Given the description of an element on the screen output the (x, y) to click on. 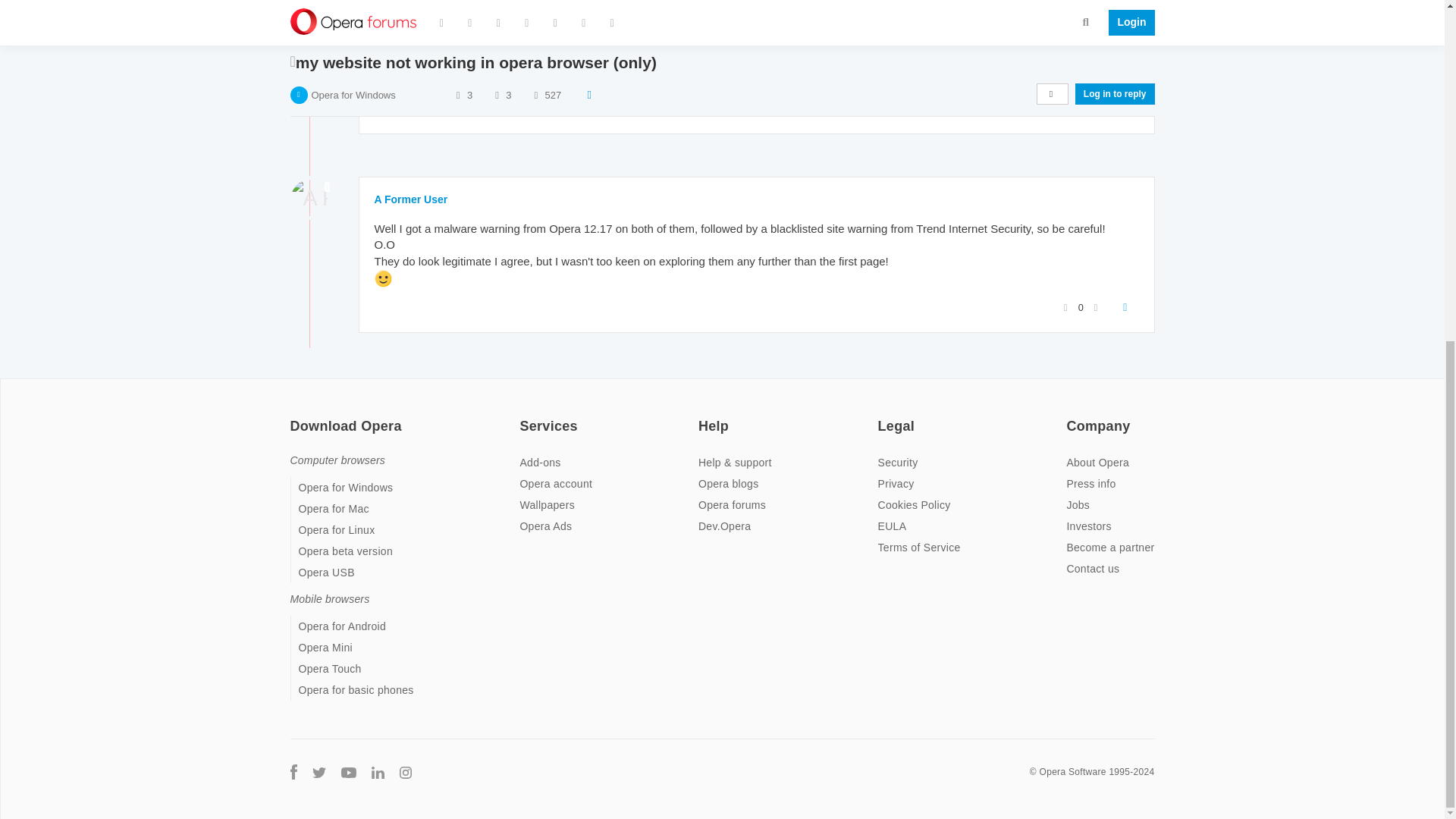
on (1070, 415)
on (293, 415)
on (523, 415)
on (702, 415)
on (881, 415)
